Given the description of an element on the screen output the (x, y) to click on. 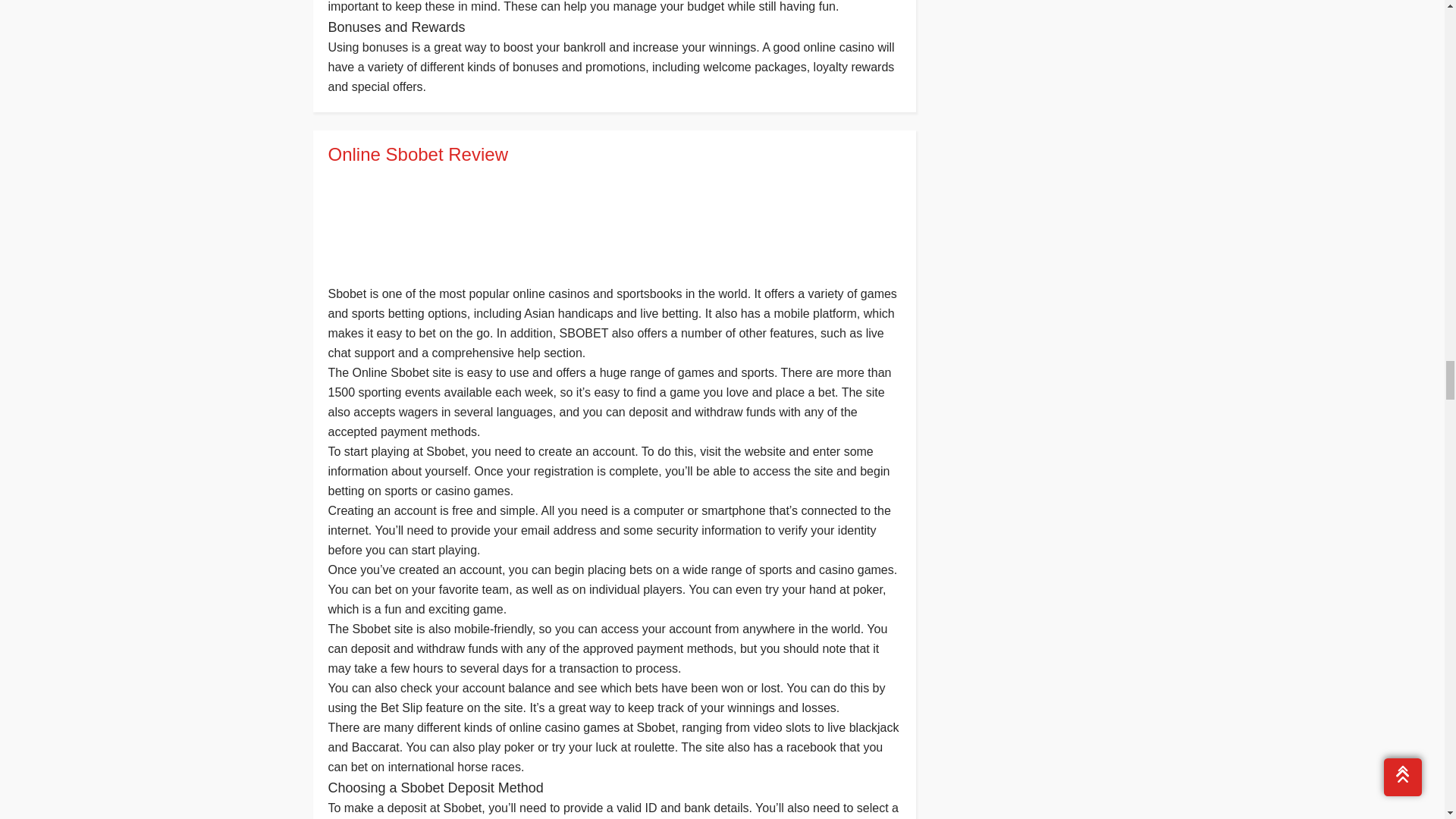
Online Sbobet Review (613, 154)
